Given the description of an element on the screen output the (x, y) to click on. 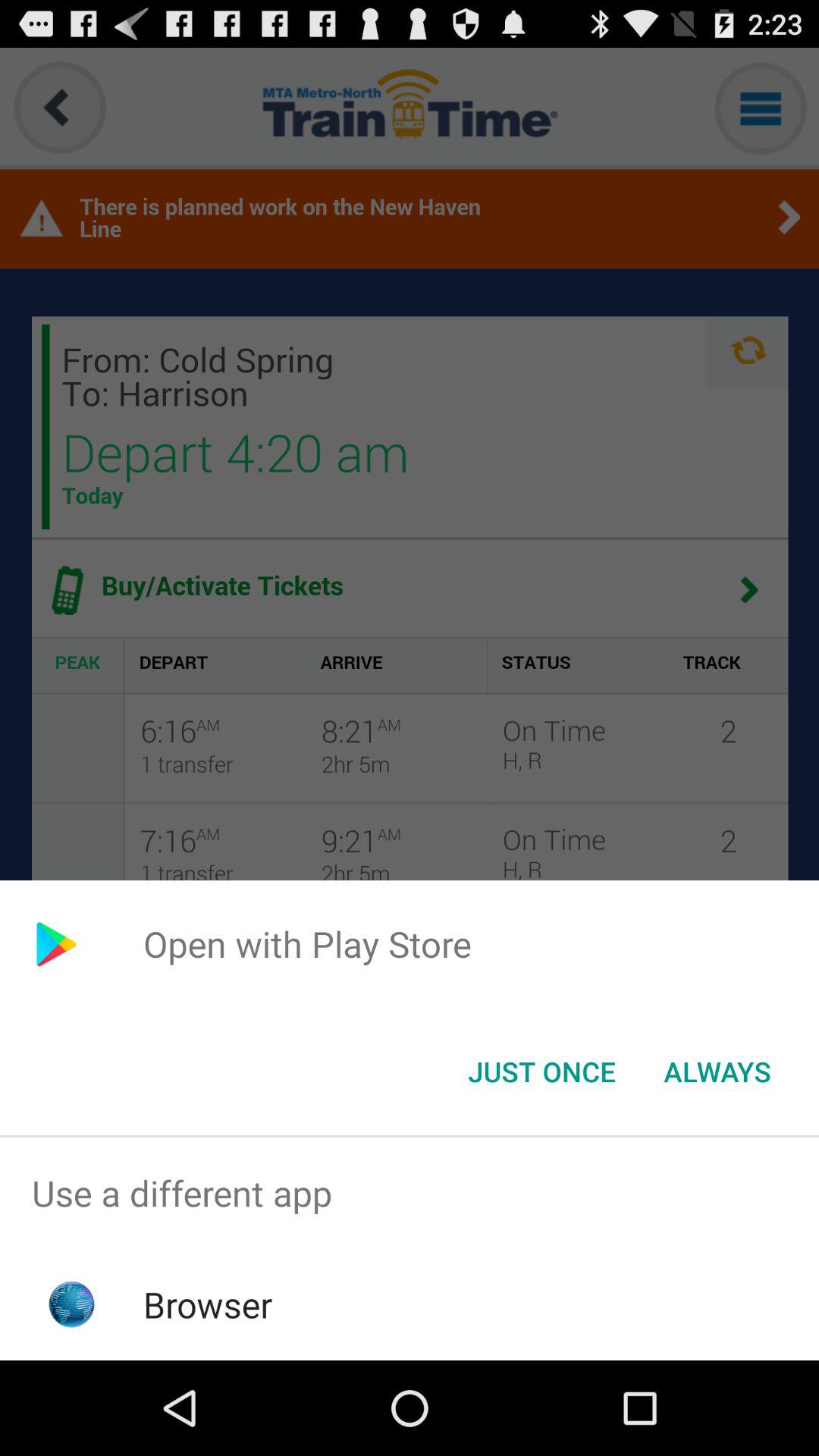
press browser app (207, 1304)
